Given the description of an element on the screen output the (x, y) to click on. 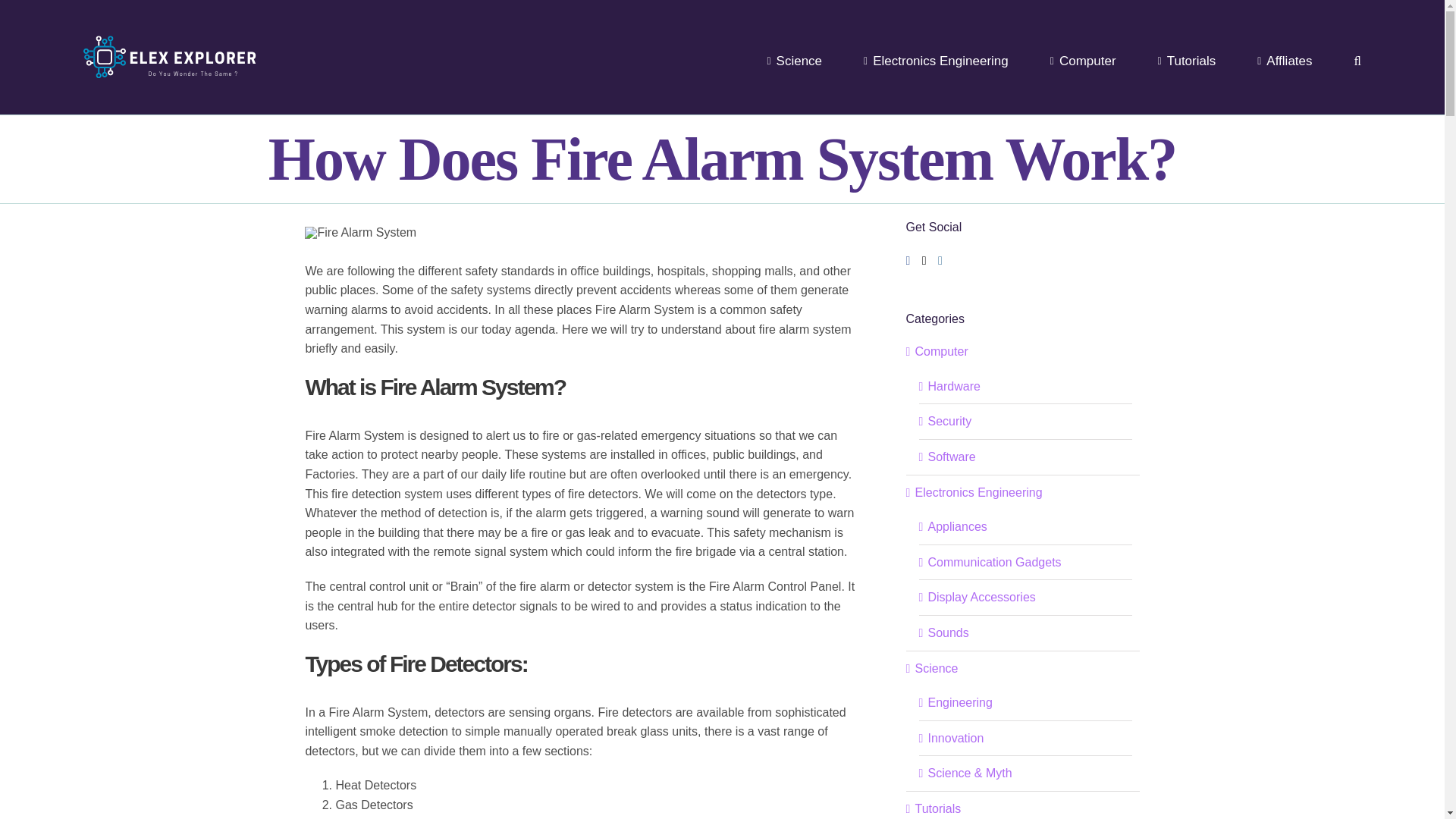
Electronics Engineering (936, 60)
Fire Alarm System (360, 232)
